Given the description of an element on the screen output the (x, y) to click on. 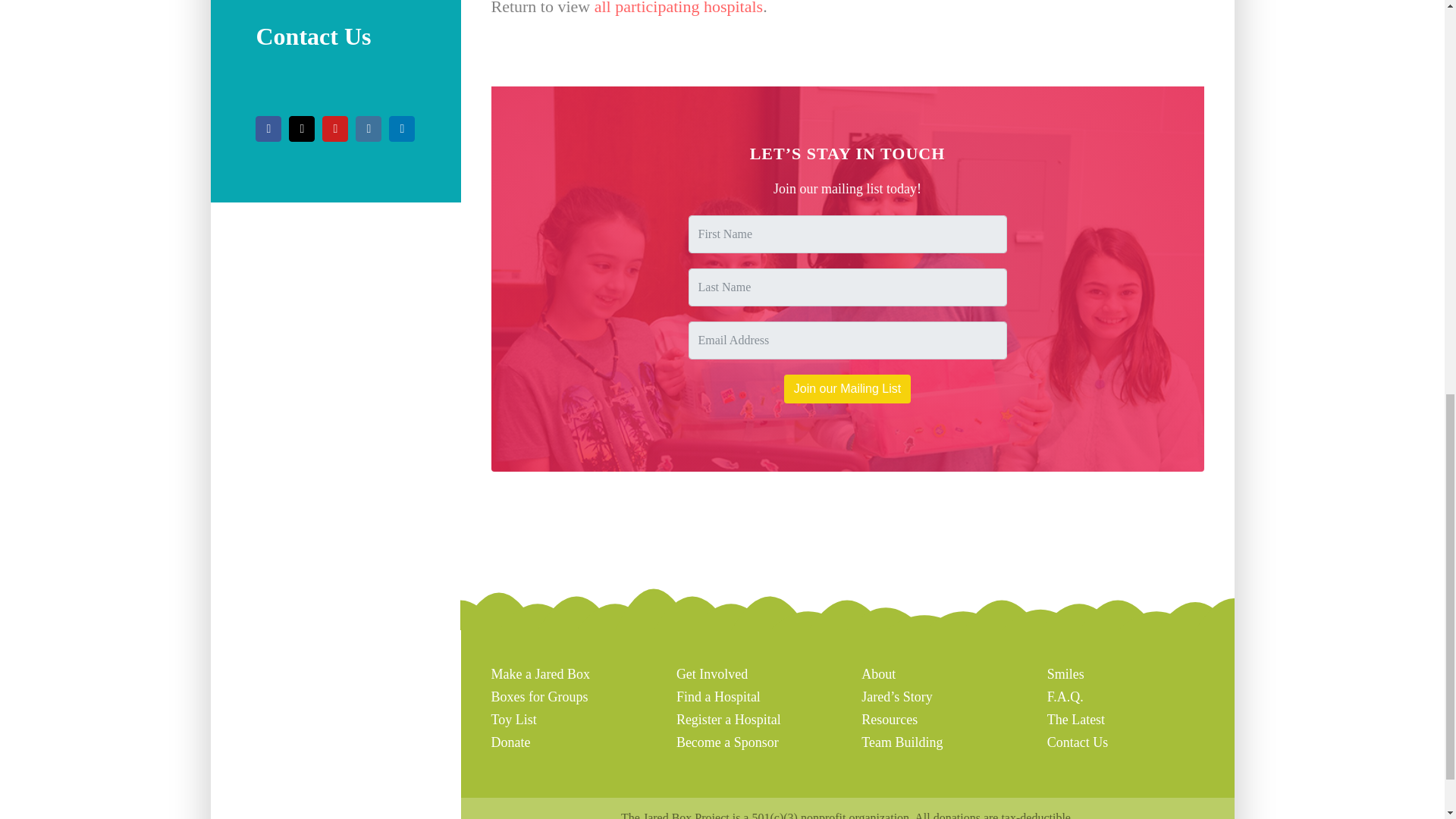
Register a Hospital (728, 719)
Get Involved (712, 673)
Boxes for Groups (539, 696)
Make a Jared Box (539, 673)
Join our Mailing List (847, 388)
Become a Sponsor (727, 742)
Team Building (901, 742)
Smiles (1065, 673)
The Latest (1075, 719)
About (878, 673)
F.A.Q. (1064, 696)
Find a Hospital (718, 696)
Return to view all participating hospitals. (847, 24)
